Given the description of an element on the screen output the (x, y) to click on. 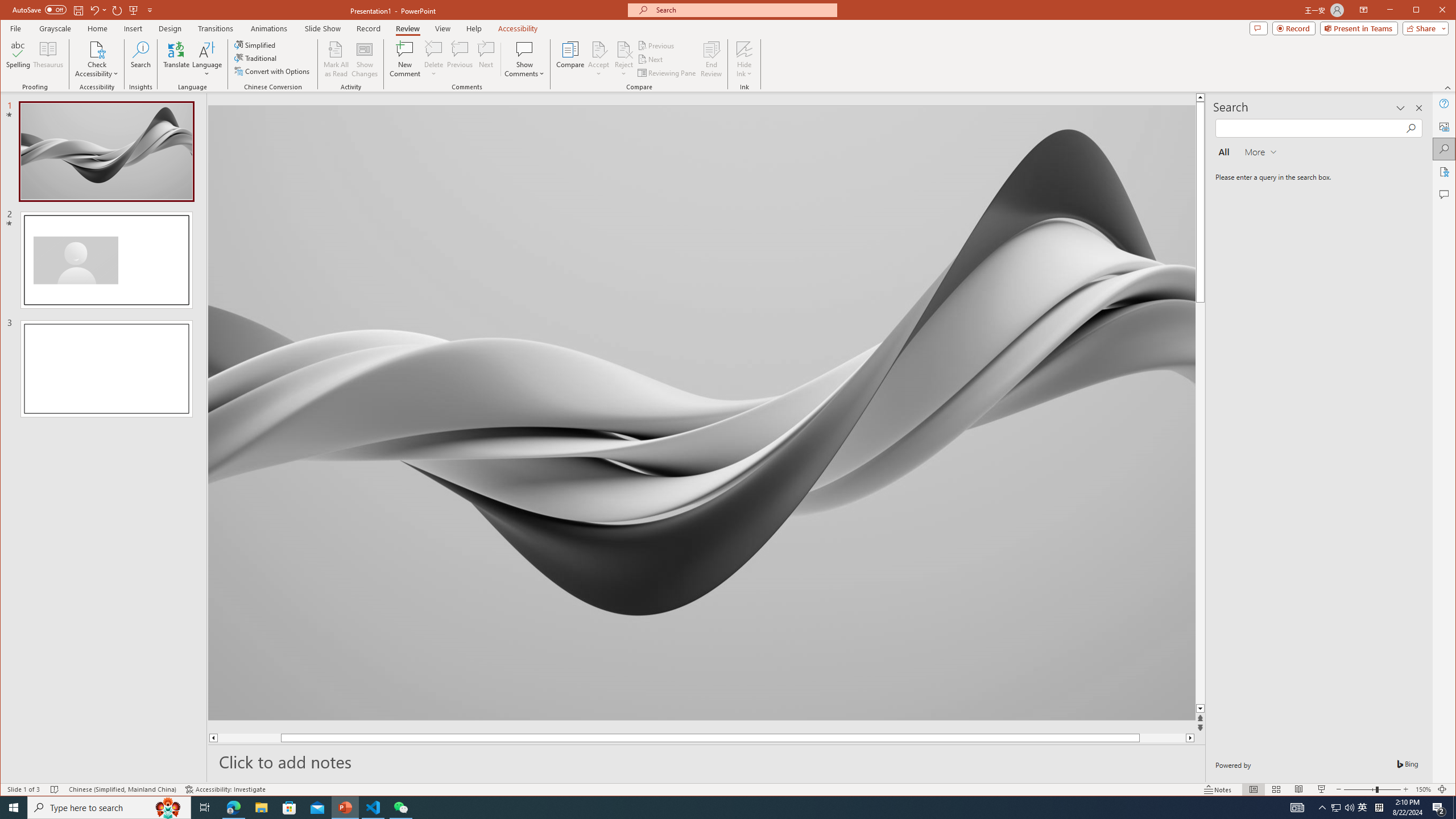
Traditional (256, 57)
Accept (598, 59)
Thesaurus... (48, 59)
